Given the description of an element on the screen output the (x, y) to click on. 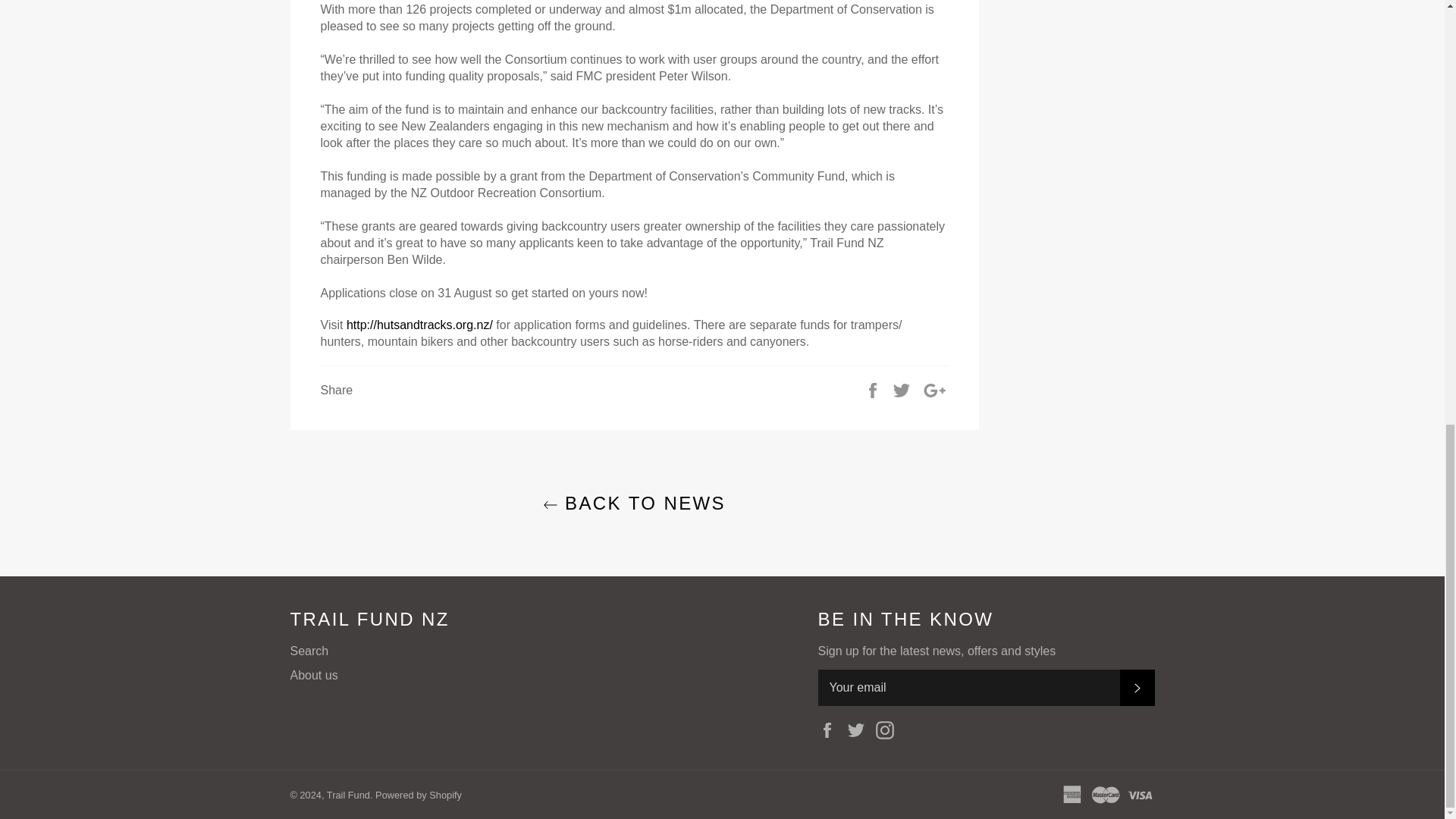
Tweet on Twitter (903, 390)
Trail Fund on Facebook (829, 729)
Trail Fund on Instagram (888, 729)
Share on Facebook (874, 390)
Trail Fund on Twitter (859, 729)
